Given the description of an element on the screen output the (x, y) to click on. 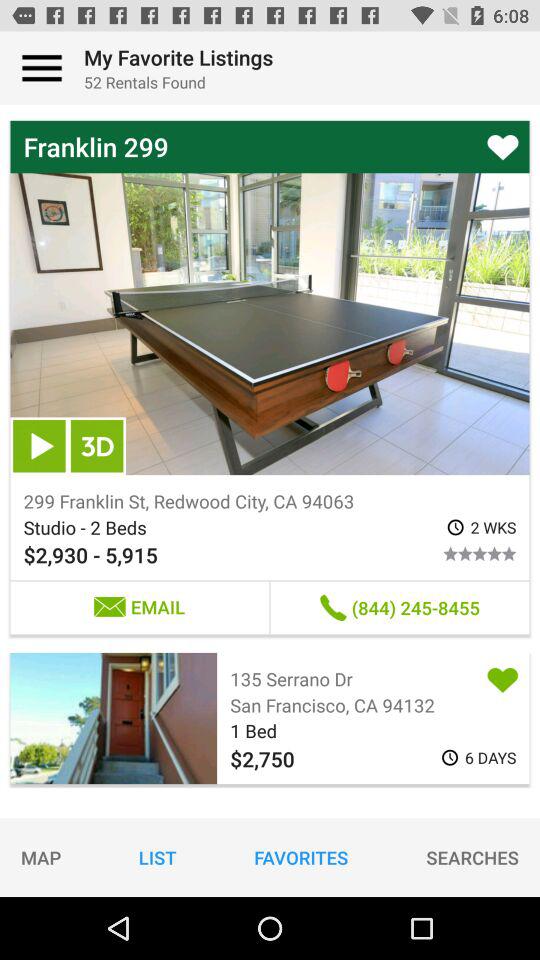
choose the icon below the franklin 299 icon (97, 446)
